Given the description of an element on the screen output the (x, y) to click on. 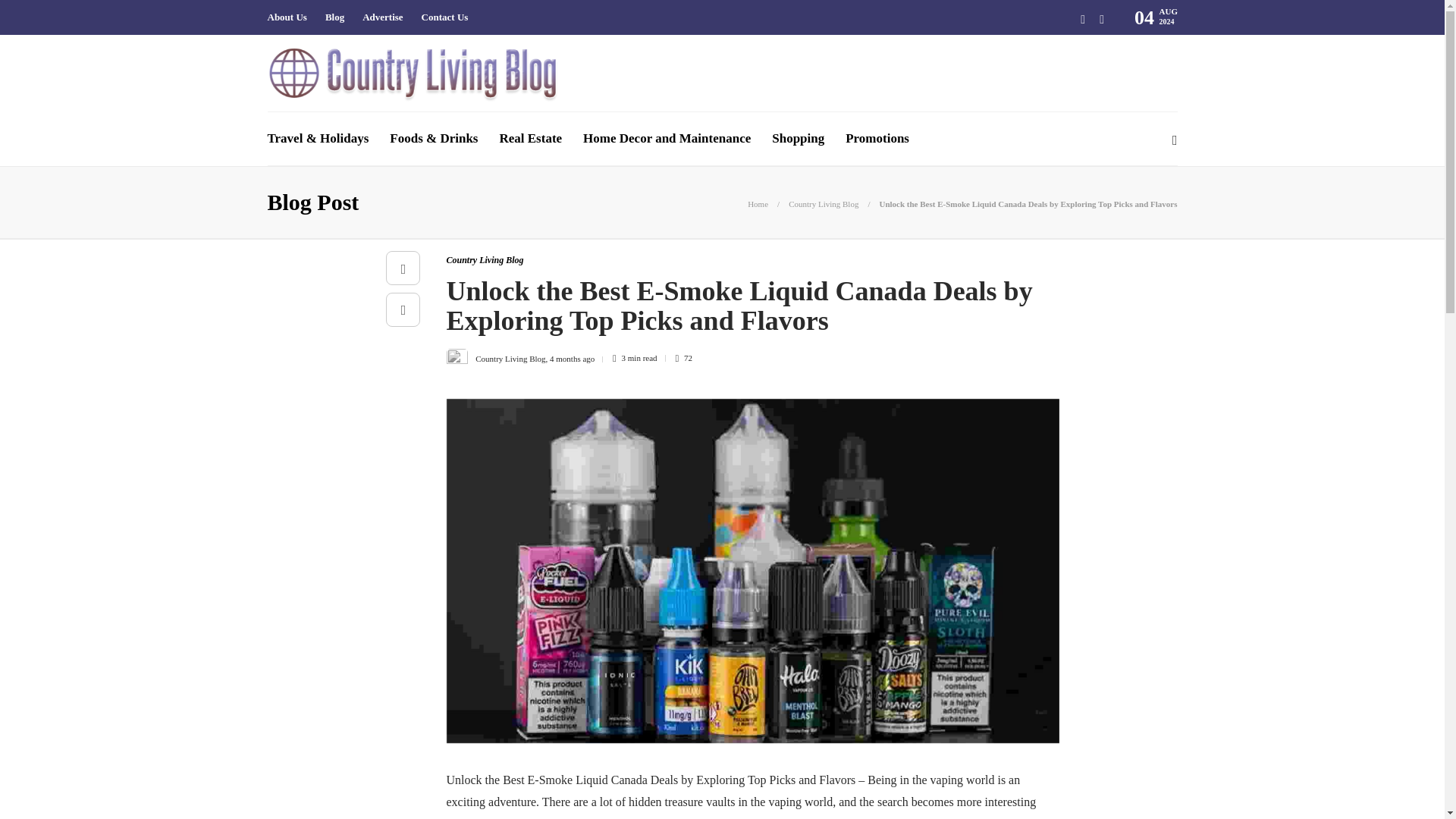
4 months ago (572, 357)
Real Estate (530, 138)
About Us (285, 17)
Advertise (382, 17)
Shopping (797, 138)
Promotions (876, 138)
Country Living Blog (483, 259)
Country Living Blog (824, 203)
Country Living Blog (510, 357)
Contact Us (445, 17)
Home (758, 203)
Canada (550, 818)
Home Decor and Maintenance (667, 138)
